Given the description of an element on the screen output the (x, y) to click on. 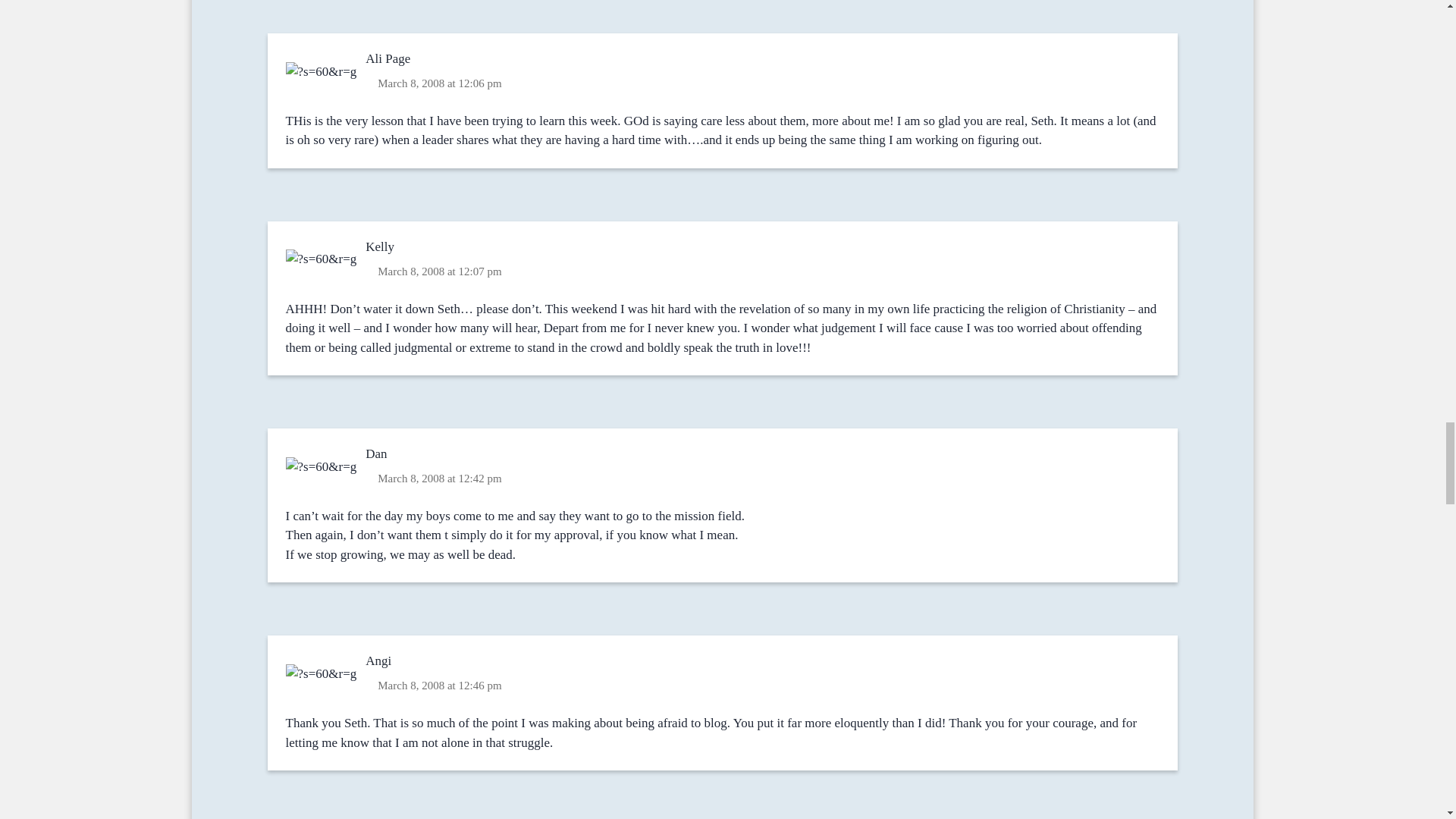
I care about the approval of men too much 3 (321, 71)
I care about the approval of men too much 3 (321, 258)
